Given the description of an element on the screen output the (x, y) to click on. 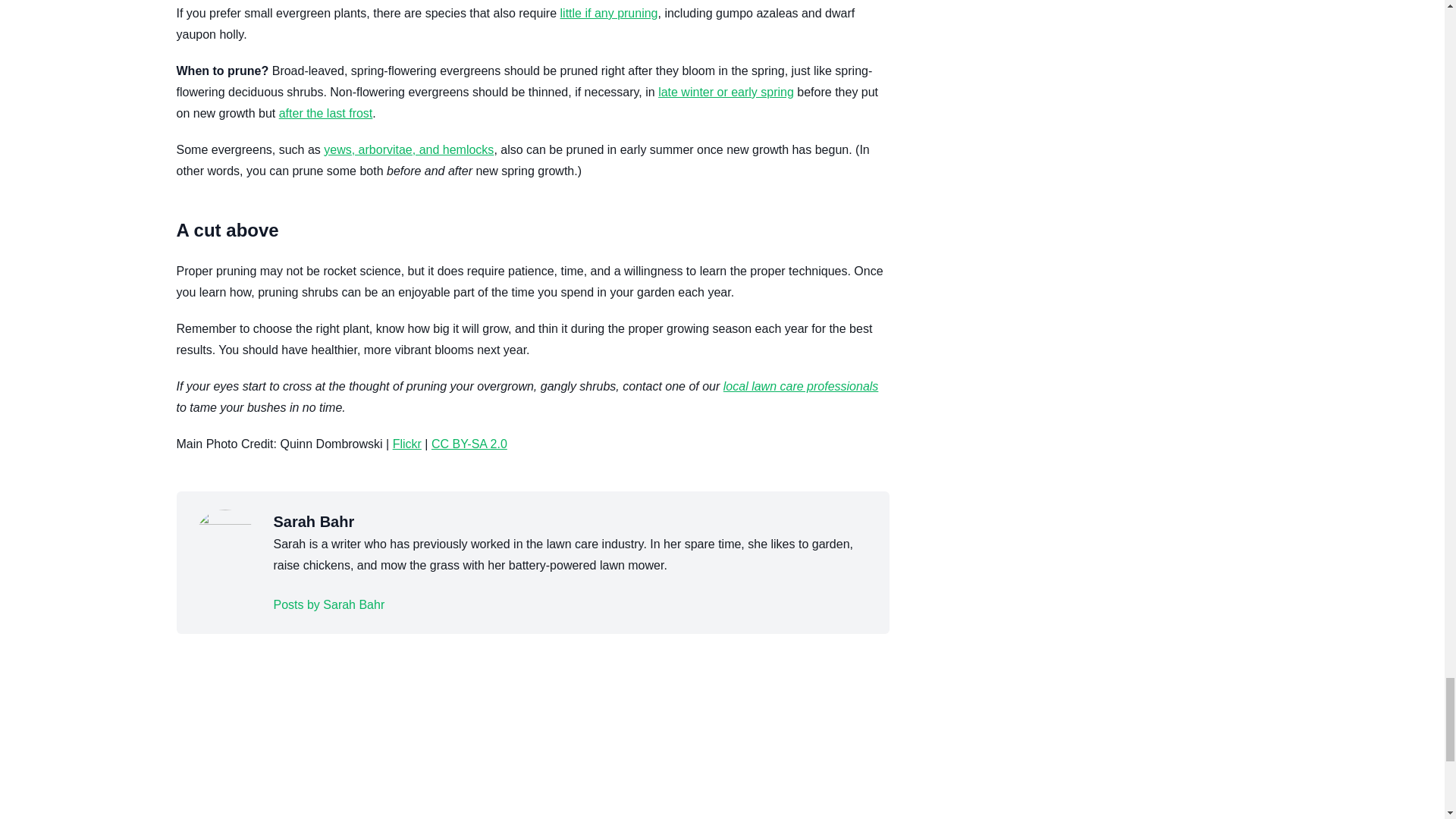
Sarah Bahr (328, 604)
